Given the description of an element on the screen output the (x, y) to click on. 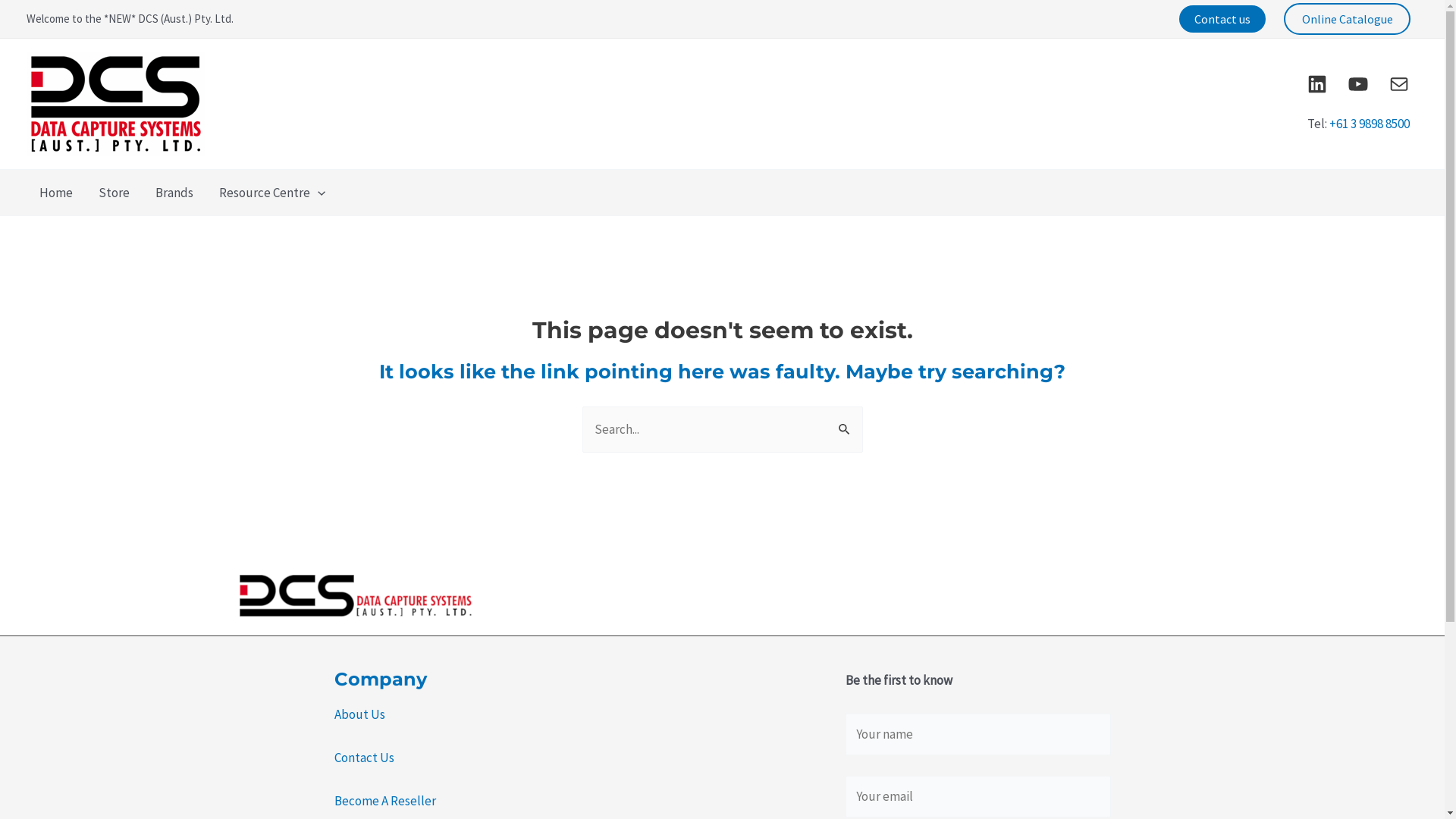
YouTube Element type: text (1357, 83)
+61 3 9898 8500 Element type: text (1368, 123)
Brands Element type: text (174, 192)
Resource Centre Element type: text (272, 192)
Online Catalogue Element type: text (1346, 18)
Home Element type: text (55, 192)
Mail Element type: text (1398, 83)
LinkedIn Element type: text (1316, 83)
Become A Reseller Element type: text (384, 800)
Contact Us Element type: text (363, 757)
Contact us Element type: text (1222, 18)
Store Element type: text (113, 192)
About Us Element type: text (358, 714)
Search Element type: text (845, 422)
